Given the description of an element on the screen output the (x, y) to click on. 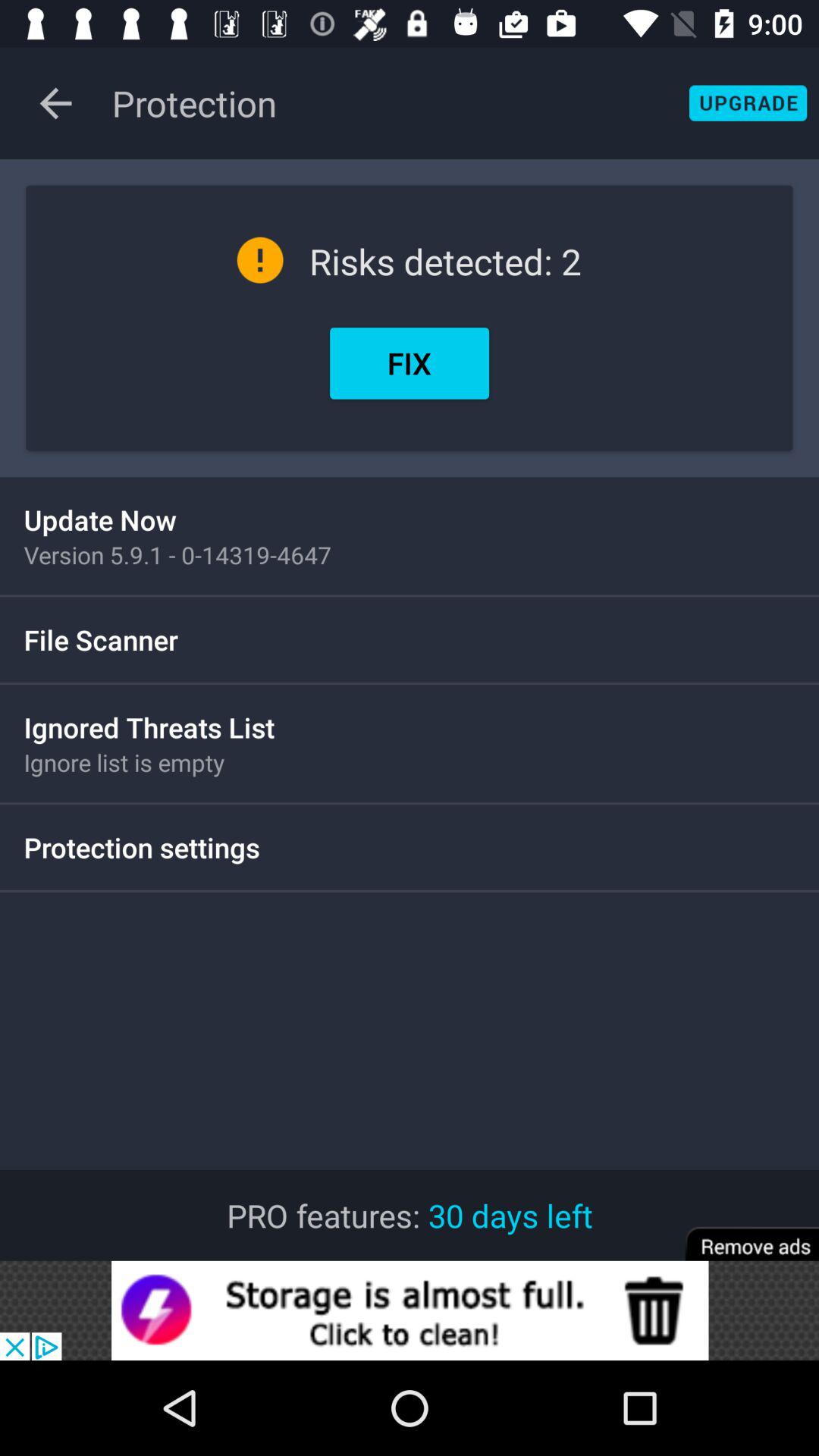
upgrade application to premium version (748, 103)
